Given the description of an element on the screen output the (x, y) to click on. 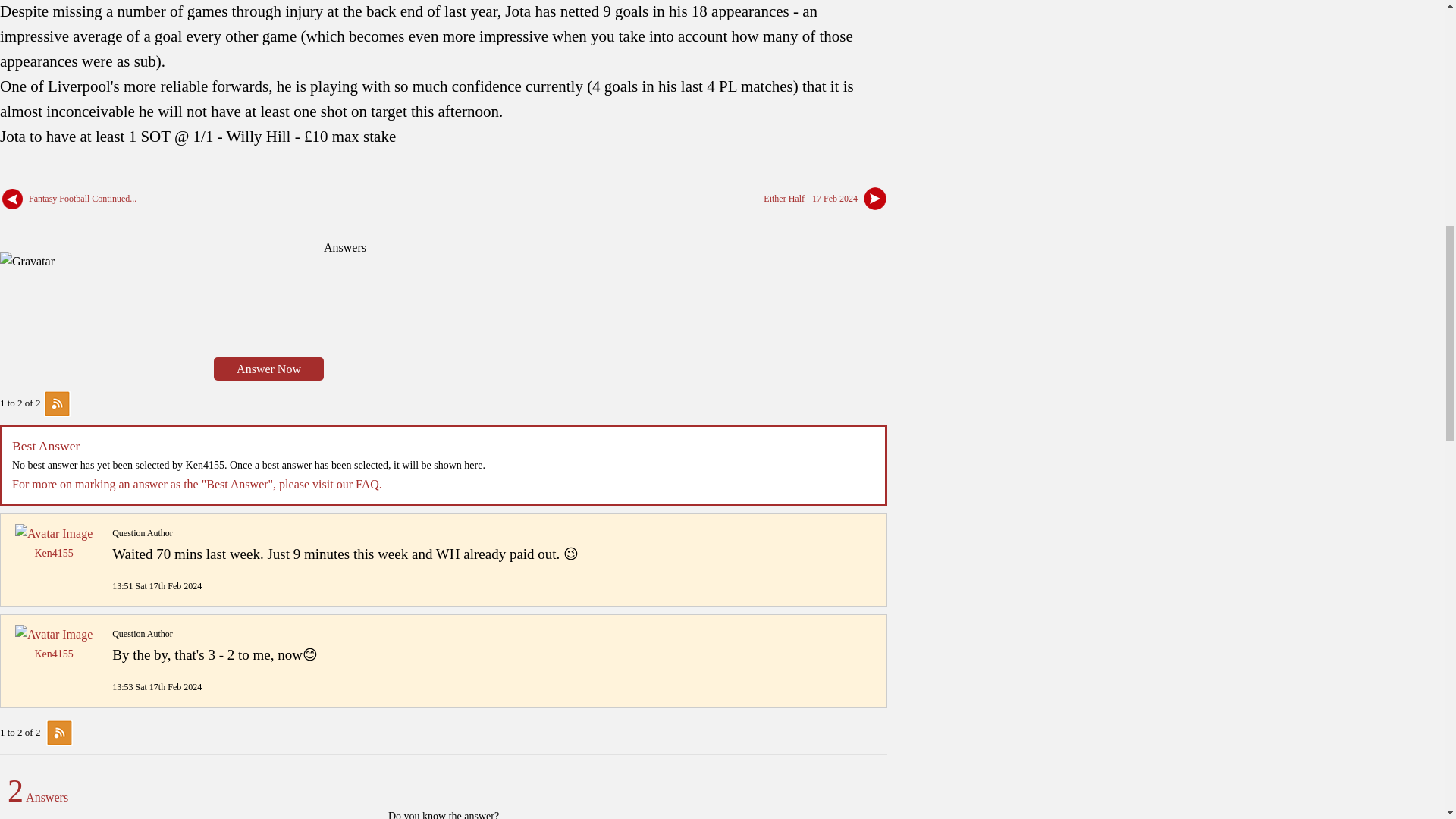
See public member profile (52, 552)
See public member profile (52, 654)
Stealing Money  5 - 17 Feb 2024 RSS Feed In The AnswerBank (56, 402)
Go to Next Question (811, 197)
See public member profile (53, 533)
Go to Previous Question (80, 197)
See public member profile (53, 634)
Answer Now (268, 368)
